Given the description of an element on the screen output the (x, y) to click on. 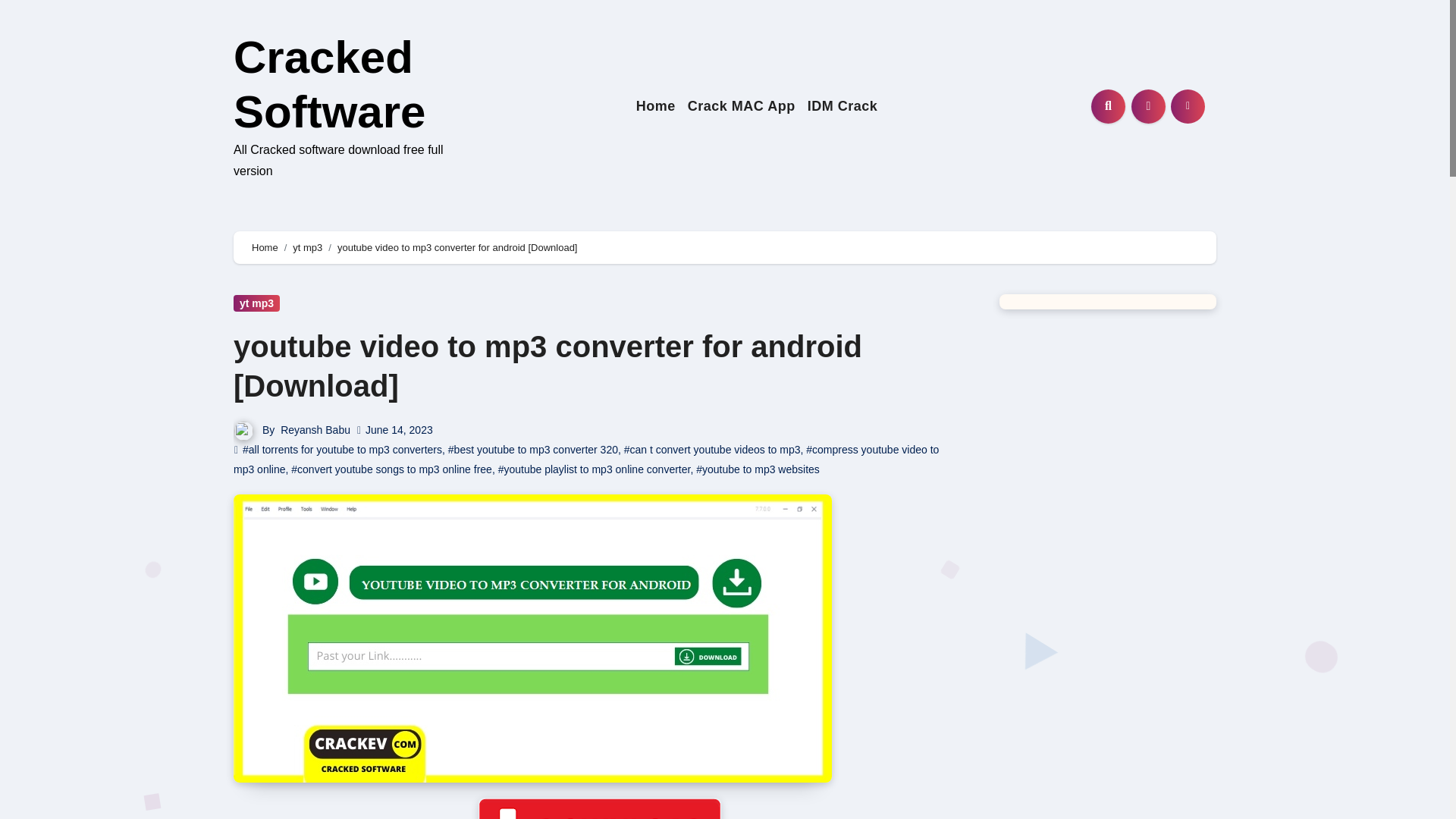
Crack MAC App (741, 106)
Crack MAC App (741, 106)
Cracked Software (328, 84)
June 14, 2023 (398, 429)
Home (264, 247)
yt mp3 (255, 303)
Reyansh Babu (315, 429)
IDM Crack (842, 106)
IDM Crack (842, 106)
yt mp3 (306, 247)
Home (655, 106)
Home (655, 106)
